Given the description of an element on the screen output the (x, y) to click on. 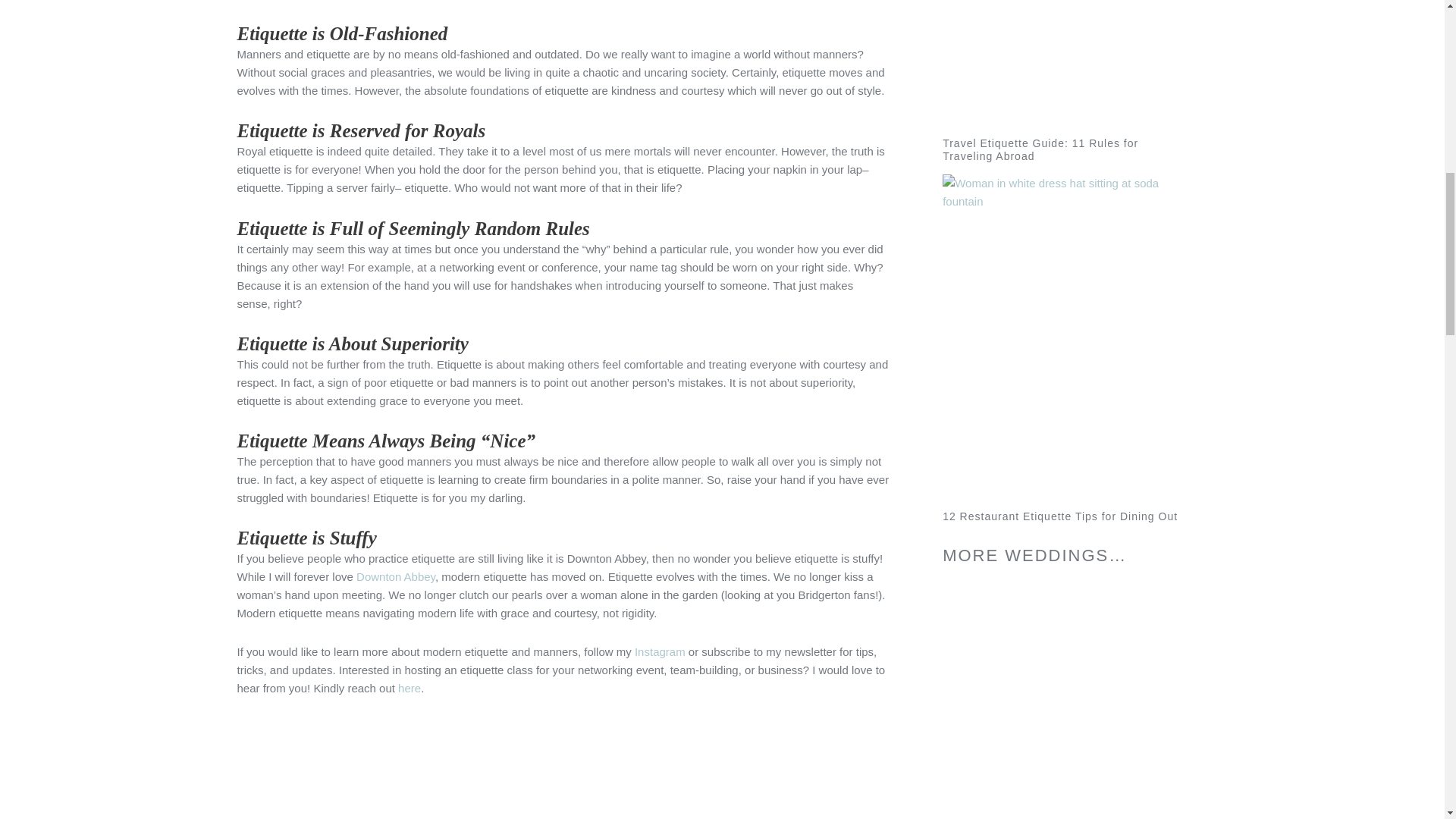
here (408, 686)
Travel Etiquette Guide: 11 Rules for Traveling Abroad (1040, 149)
12 Restaurant Etiquette Tips for Dining Out (1059, 516)
Downton Abbey (395, 576)
Instagram (659, 650)
